Given the description of an element on the screen output the (x, y) to click on. 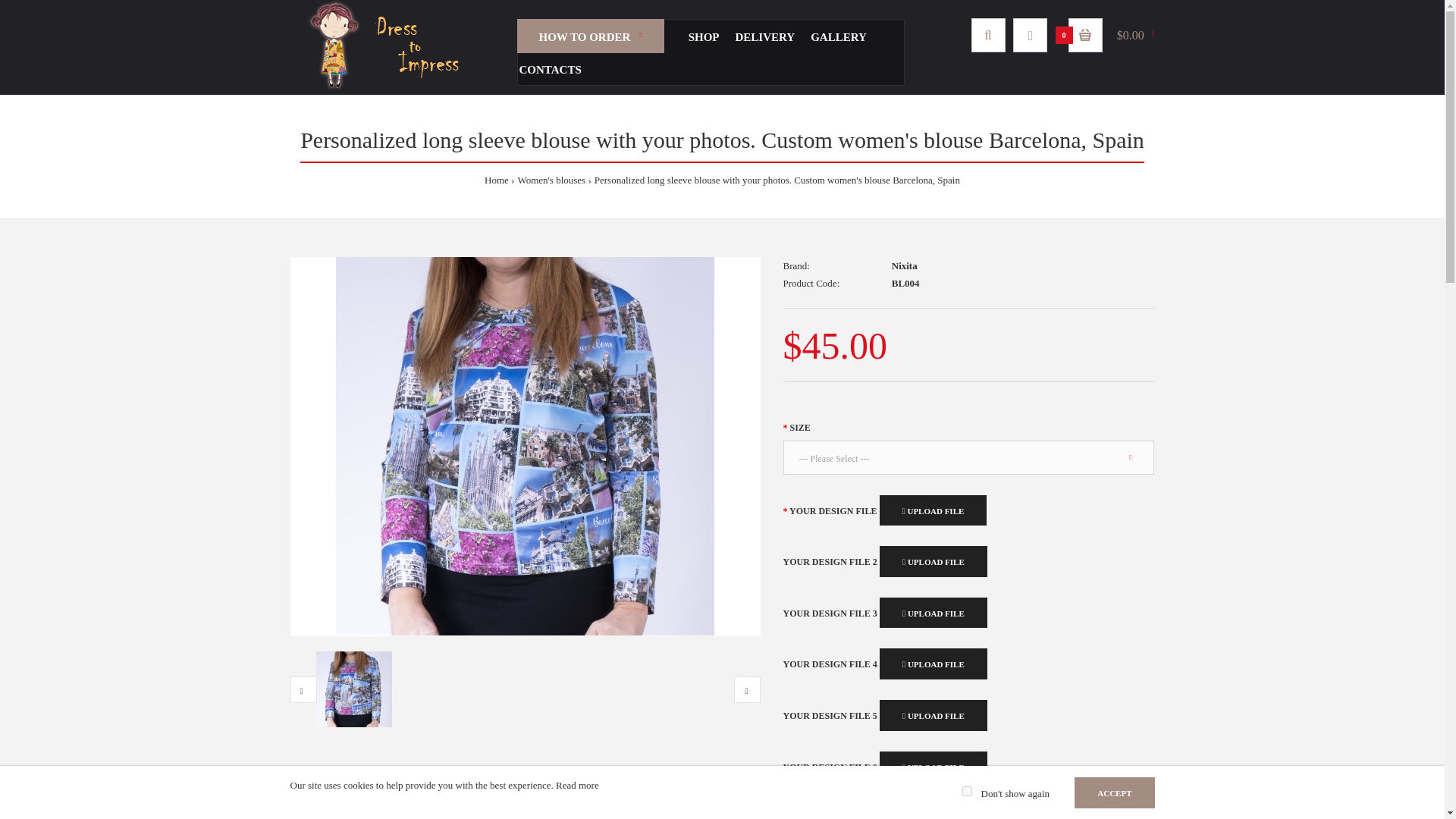
Women's blouses (550, 179)
HOW TO ORDER (589, 35)
UPLOAD FILE (933, 715)
CONTACTS (549, 68)
Home (496, 179)
UPLOAD FILE (933, 561)
SHOP (703, 35)
DELIVERY (764, 35)
on (967, 791)
